Given the description of an element on the screen output the (x, y) to click on. 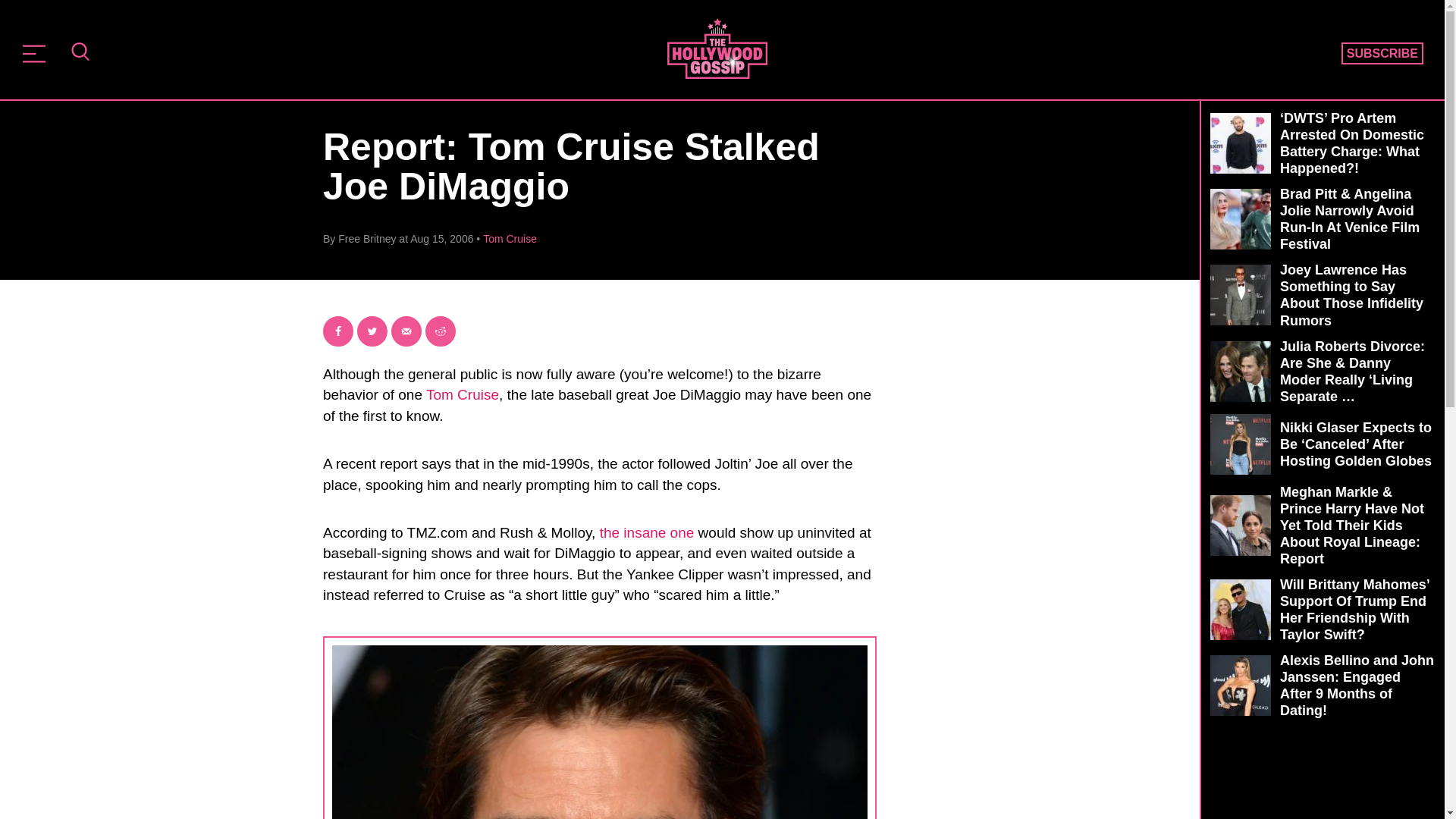
The Hollywood Gossip (716, 48)
SEARCH (79, 53)
Share on Reddit (440, 331)
Share on Facebook (338, 331)
Free Britney (366, 238)
Send over email (406, 331)
Tom Cruise (462, 394)
Tom Cruise (510, 238)
